Given the description of an element on the screen output the (x, y) to click on. 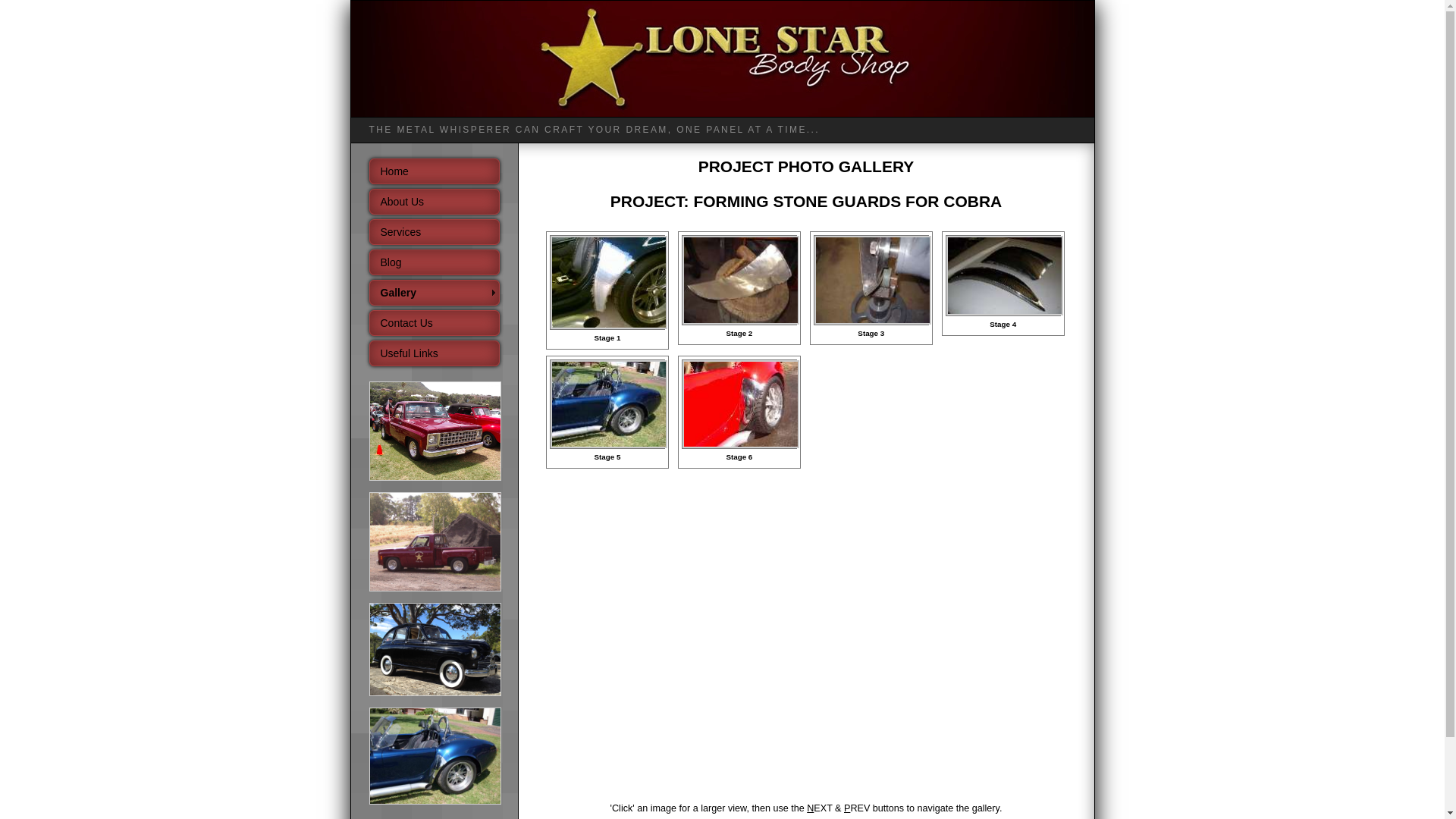
Services Element type: text (433, 231)
Lone Star Body Shop... Element type: hover (721, 58)
Blog Element type: text (433, 262)
1980 Chev Cheyenne Super Element type: hover (434, 588)
Cobra Element type: hover (434, 801)
CHEV C-10 023 Element type: hover (434, 477)
About Us Element type: text (433, 201)
Home Element type: text (433, 171)
Useful Links Element type: text (433, 353)
Contact Us Element type: text (433, 322)
Cobra Element type: hover (434, 755)
CHEV C-10 023 Element type: hover (434, 430)
1980 Chev Cheyenne Super Element type: hover (434, 541)
1949 Vanguard Element type: hover (434, 692)
Gallery Element type: text (433, 292)
1949 Vanguard Element type: hover (434, 649)
